Given the description of an element on the screen output the (x, y) to click on. 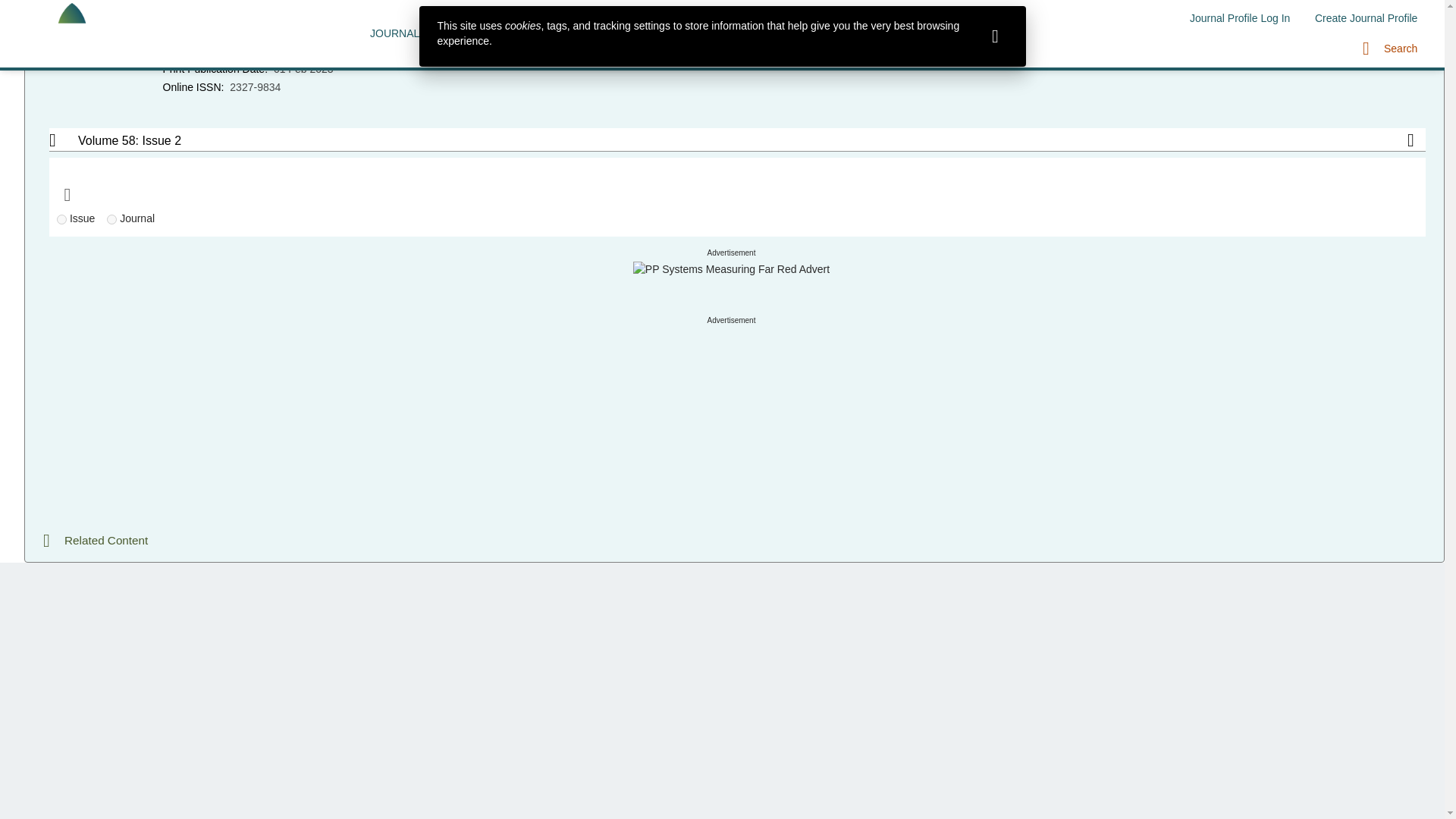
ASHS HOME (751, 32)
JOURNALS (398, 32)
STORE (918, 32)
Create Journal Profile (1366, 18)
STORE (918, 32)
ABOUT ASHS (842, 32)
Journal Profile Log In (1239, 18)
ASHS HOME (751, 32)
ADVERTISERS (657, 32)
JOURNALS (398, 32)
